Given the description of an element on the screen output the (x, y) to click on. 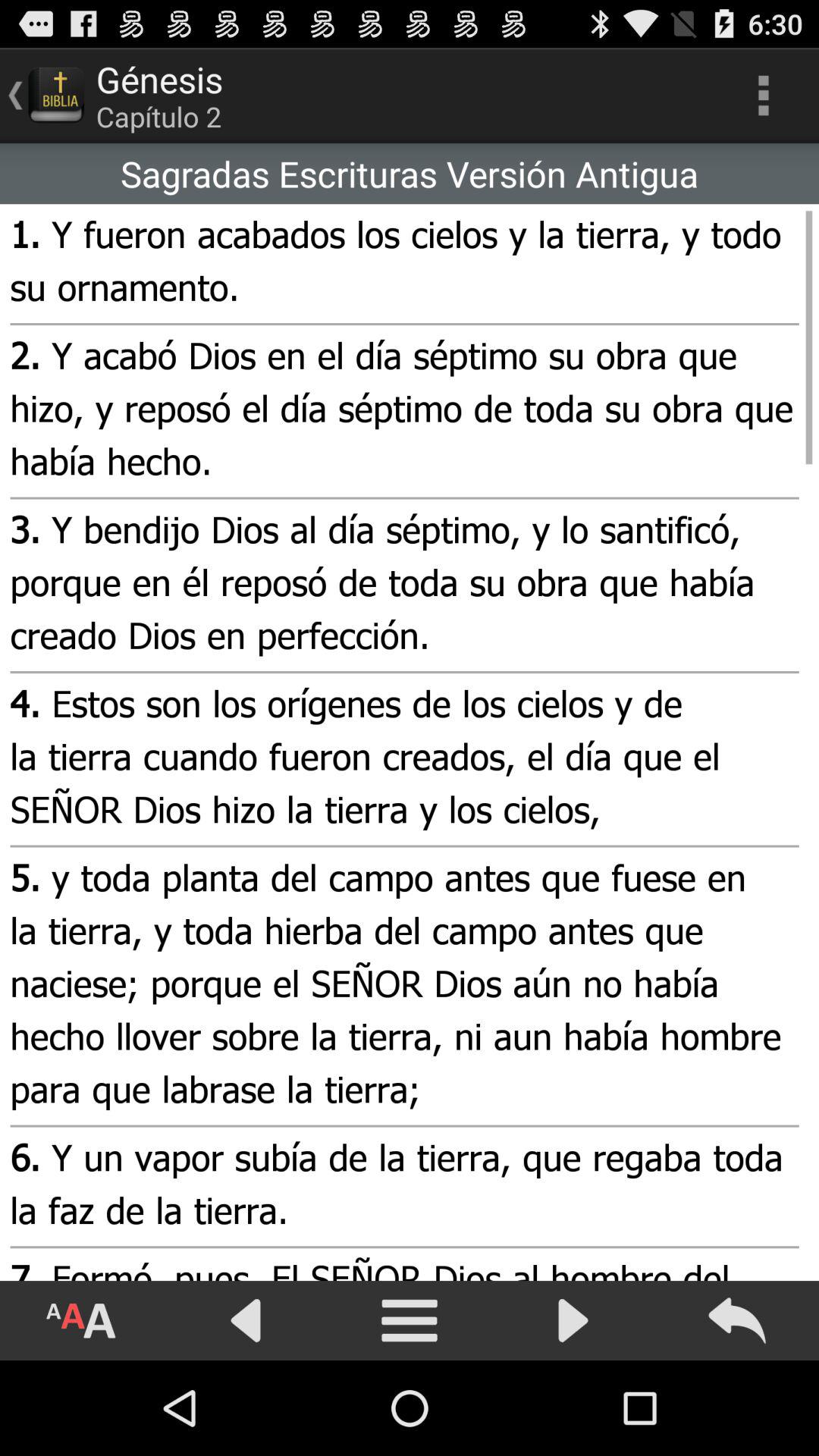
select 4 estos son icon (402, 759)
